Given the description of an element on the screen output the (x, y) to click on. 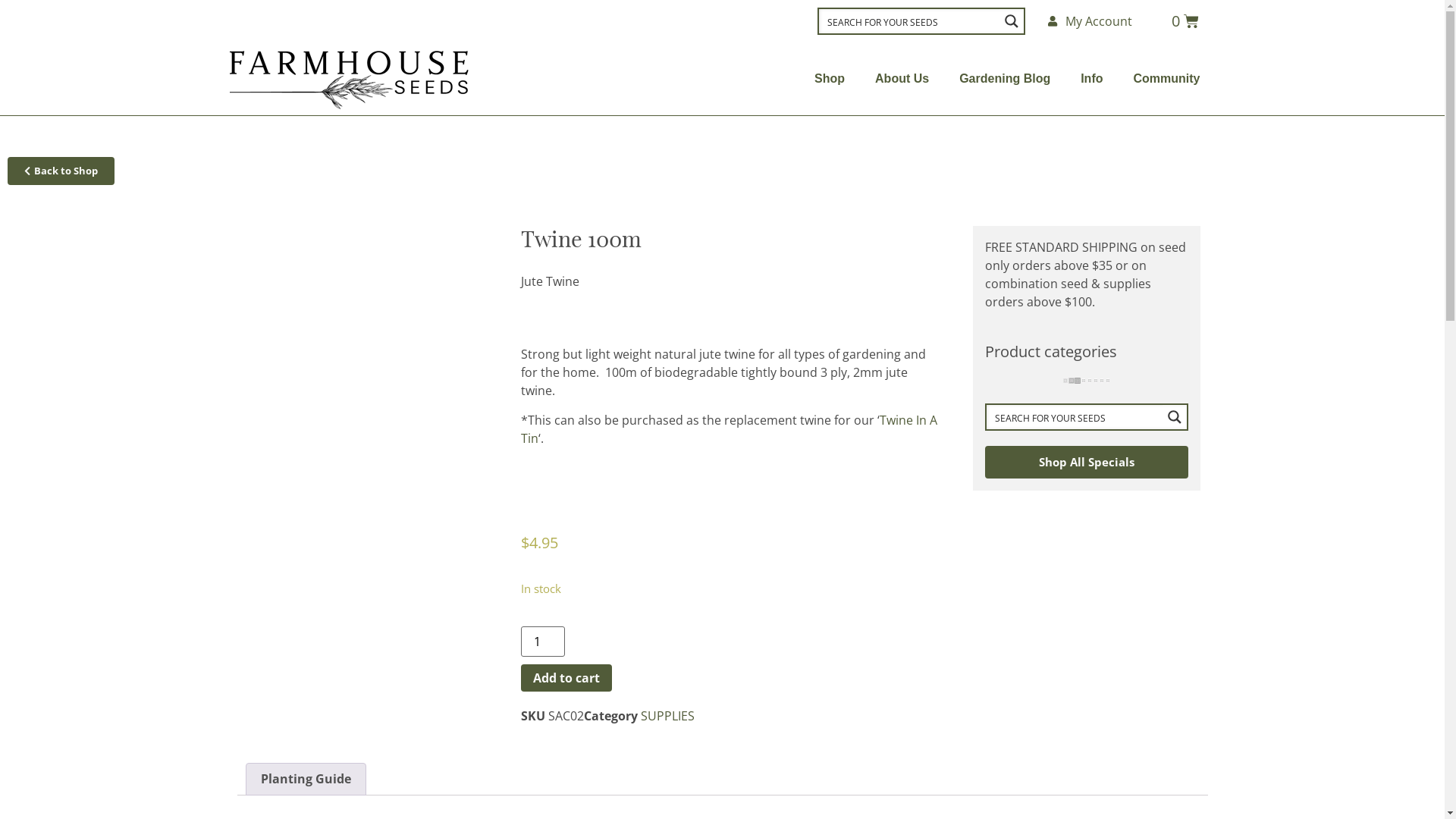
Shop All Specials Element type: text (1085, 461)
Gardening Blog Element type: text (1004, 78)
About Us Element type: text (901, 78)
Back to Shop Element type: text (60, 170)
0 Element type: text (1184, 21)
Twine In A Tin Element type: text (728, 428)
My Account Element type: text (1090, 21)
Planting Guide Element type: text (304, 779)
Add to cart Element type: text (565, 677)
Info Element type: text (1091, 78)
SUPPLIES Element type: text (666, 715)
Shop Element type: text (829, 78)
Community Element type: text (1165, 78)
